Given the description of an element on the screen output the (x, y) to click on. 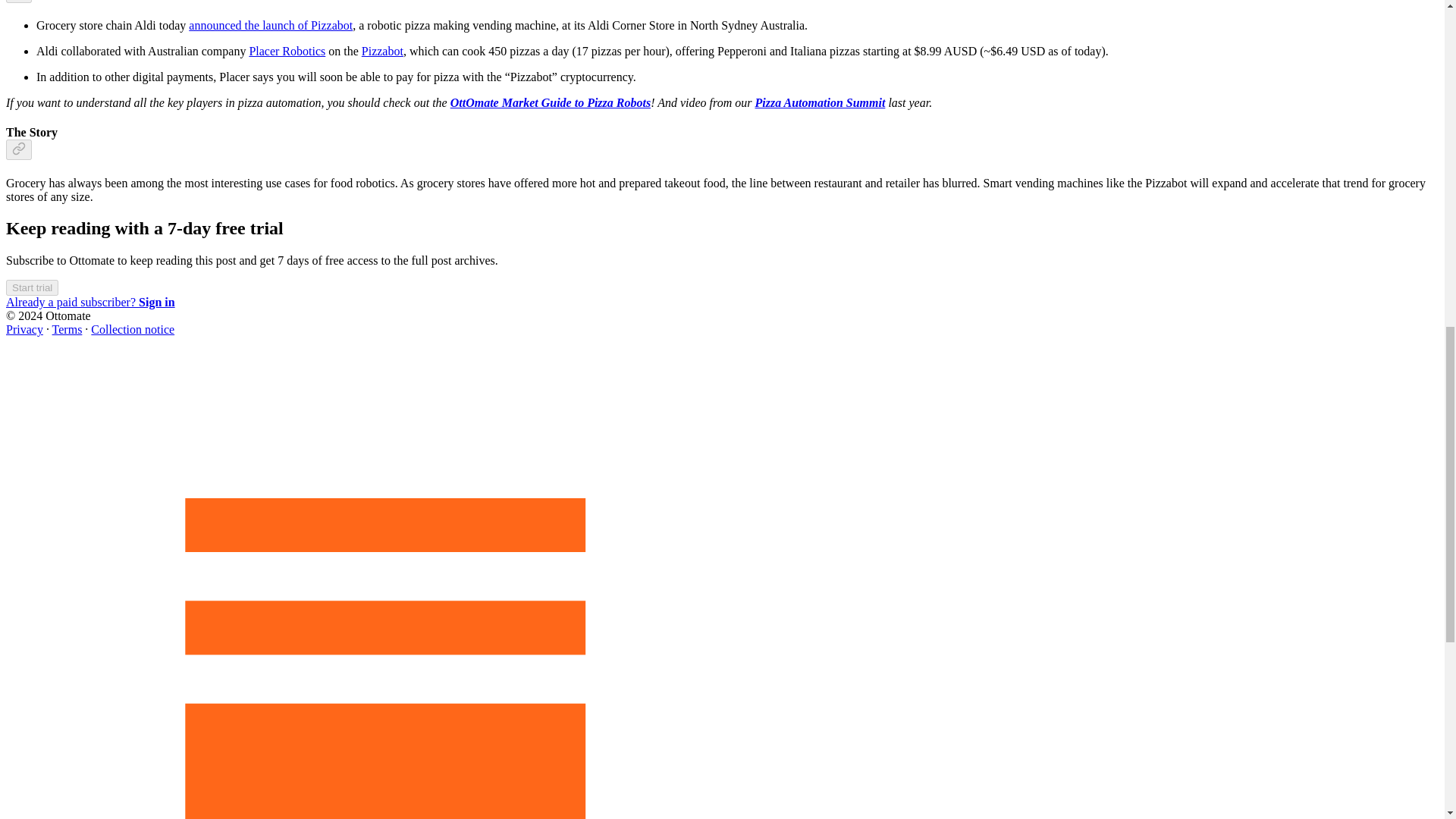
Start trial (31, 287)
Pizzabot (382, 51)
Privacy (24, 328)
Start trial (31, 286)
OttOmate Market Guide to Pizza Robots (549, 102)
Collection notice (132, 328)
Terms (67, 328)
Pizza Automation Summit (819, 102)
Placer Robotics (286, 51)
announced the launch of Pizzabot (270, 24)
Already a paid subscriber? Sign in (89, 301)
